Given the description of an element on the screen output the (x, y) to click on. 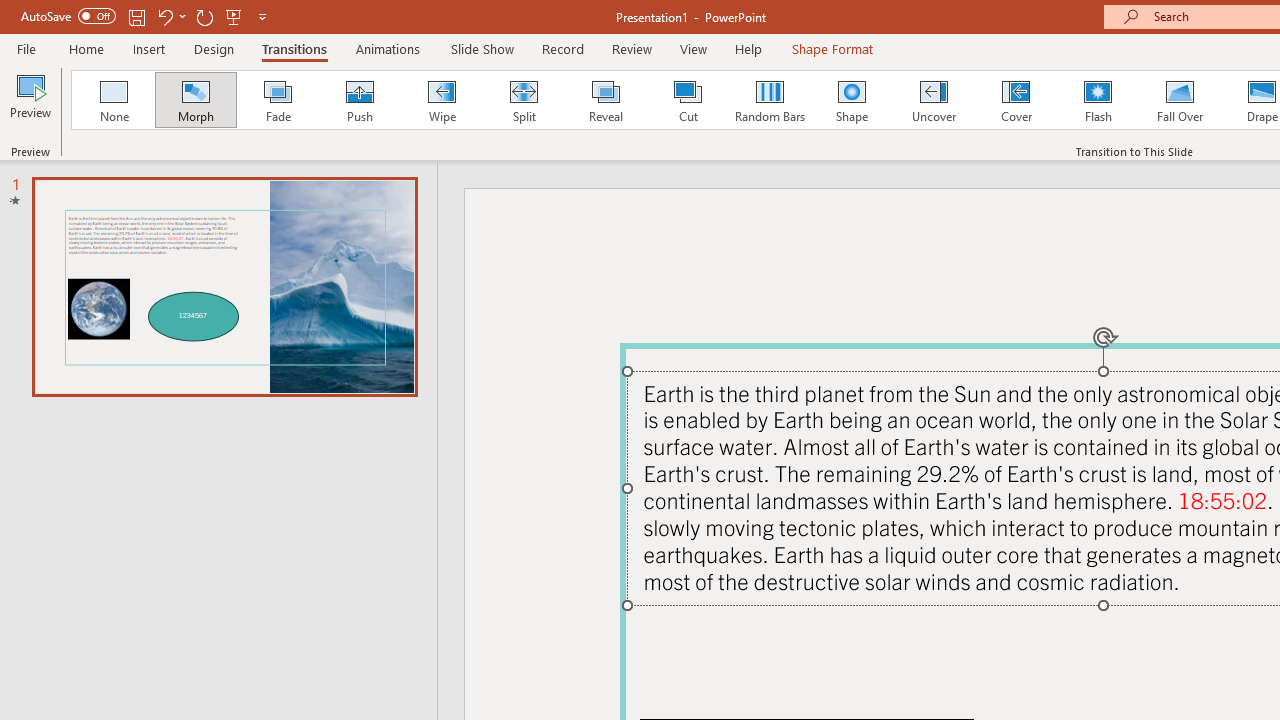
Push (359, 100)
Cover (1016, 100)
